Given the description of an element on the screen output the (x, y) to click on. 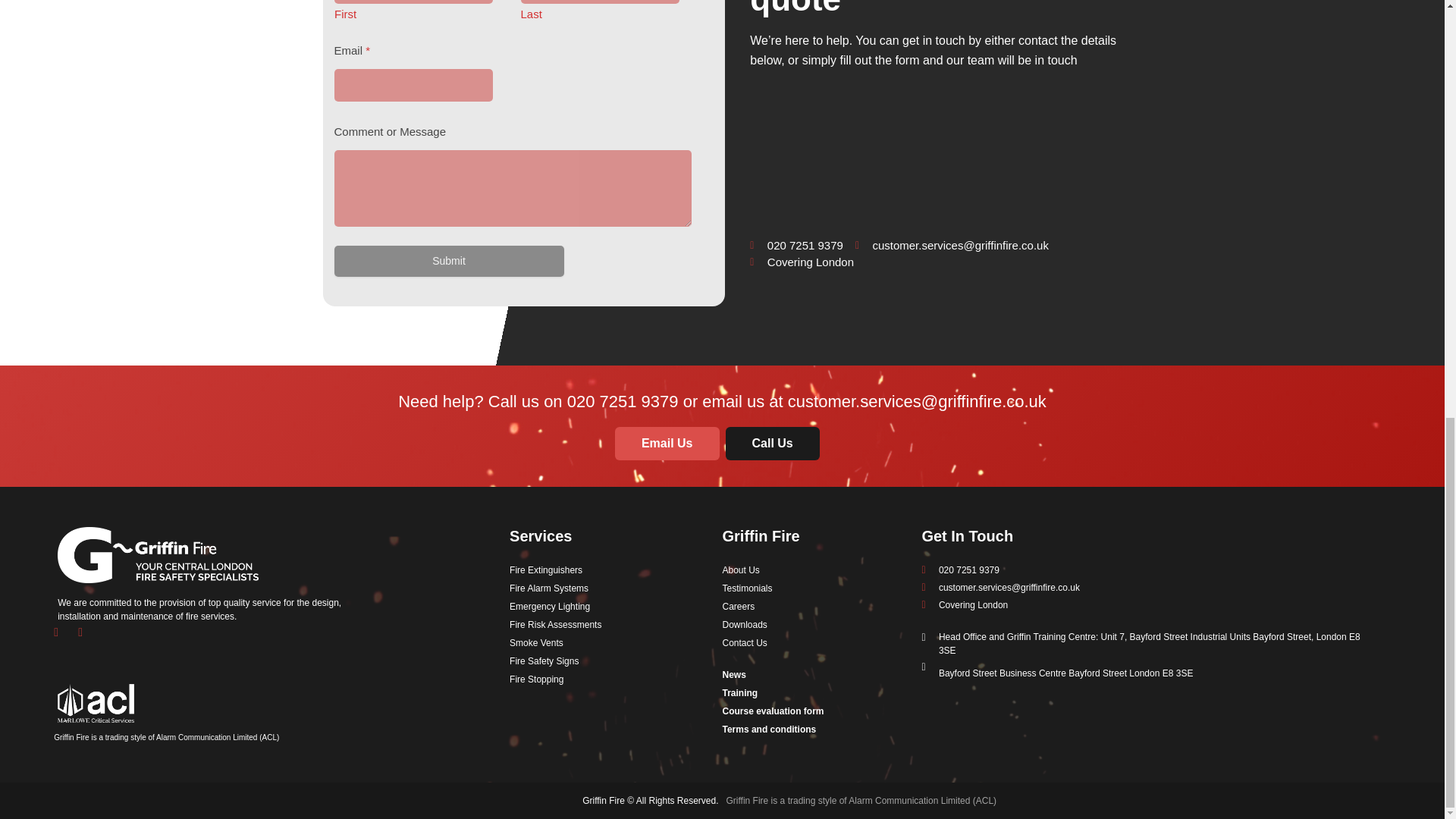
London, E8 3SE (936, 154)
